Given the description of an element on the screen output the (x, y) to click on. 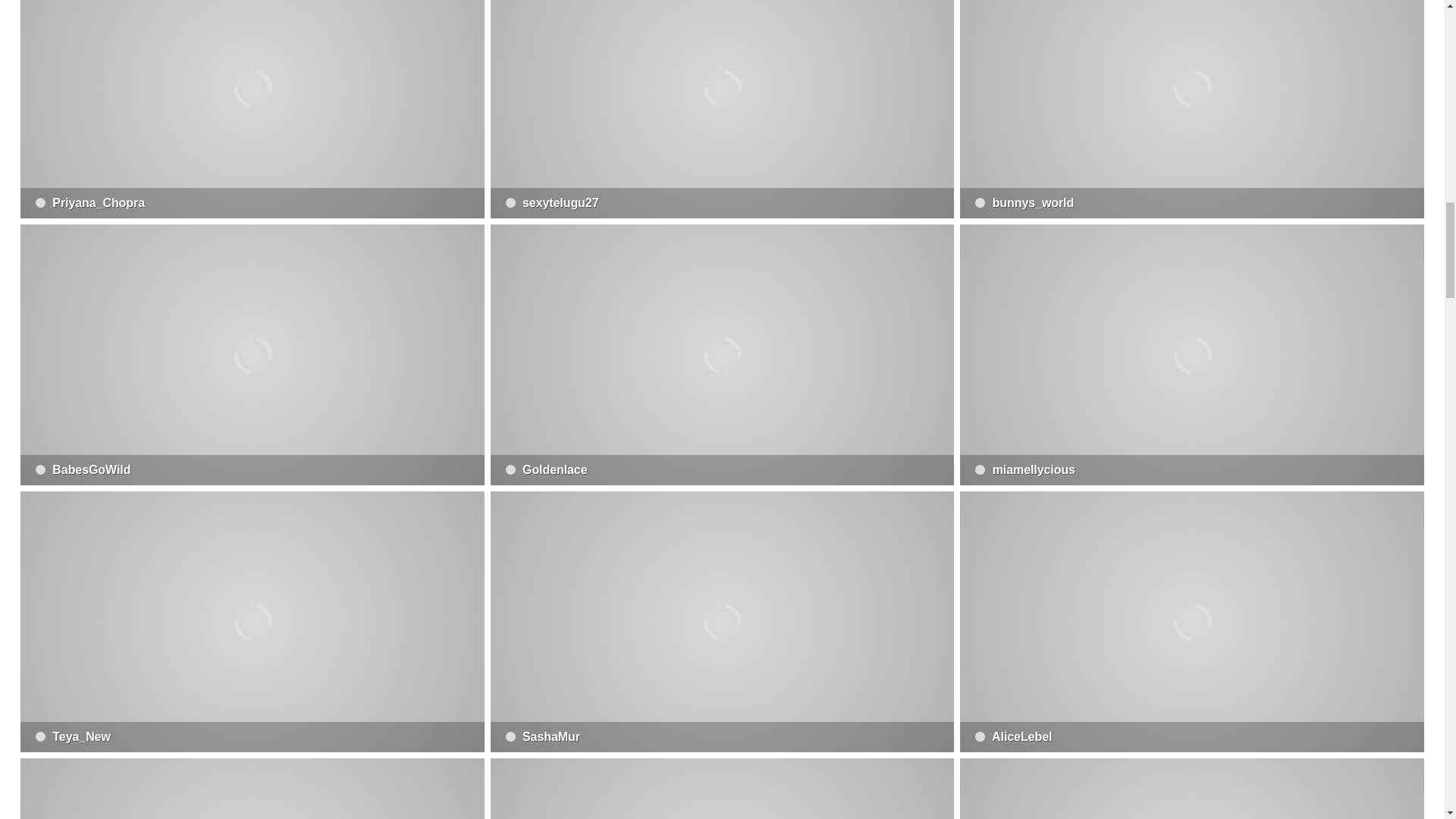
pettyxpoison22 (722, 788)
GypsyEsmeralda (252, 788)
AliceLebel (1191, 621)
Goldenlace (722, 354)
SashaMur (722, 621)
miamellycious (1191, 354)
BabesGoWild (252, 354)
ZendayaClark (1191, 788)
sexytelugu27 (722, 109)
